Given the description of an element on the screen output the (x, y) to click on. 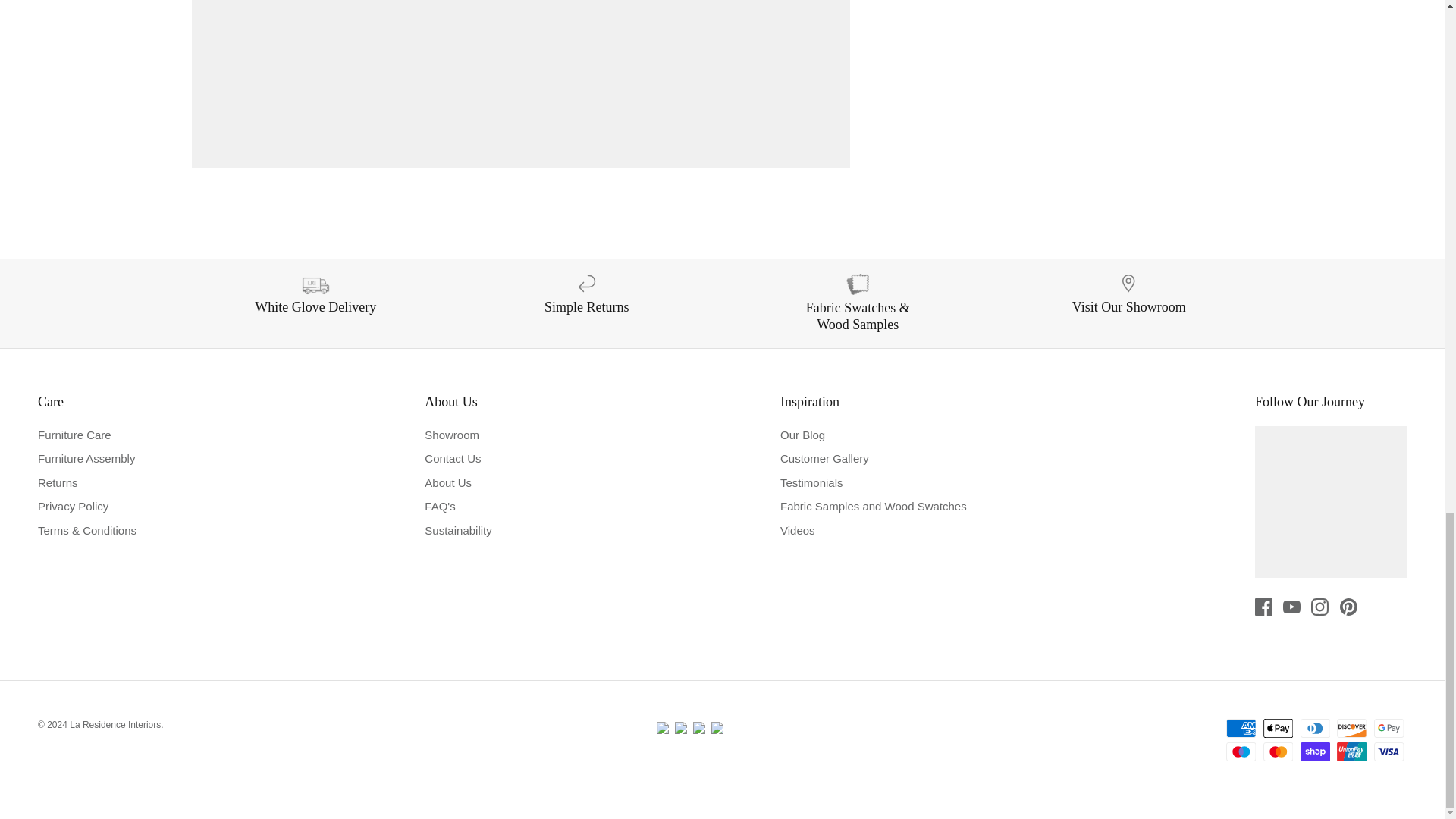
Pinterest (1347, 606)
Apple Pay (1277, 728)
Diners Club (1315, 728)
Maestro (1240, 751)
Facebook (1263, 606)
Instagram (1319, 606)
American Express (1240, 728)
Google Pay (1388, 728)
Discover (1351, 728)
Youtube (1291, 606)
